Given the description of an element on the screen output the (x, y) to click on. 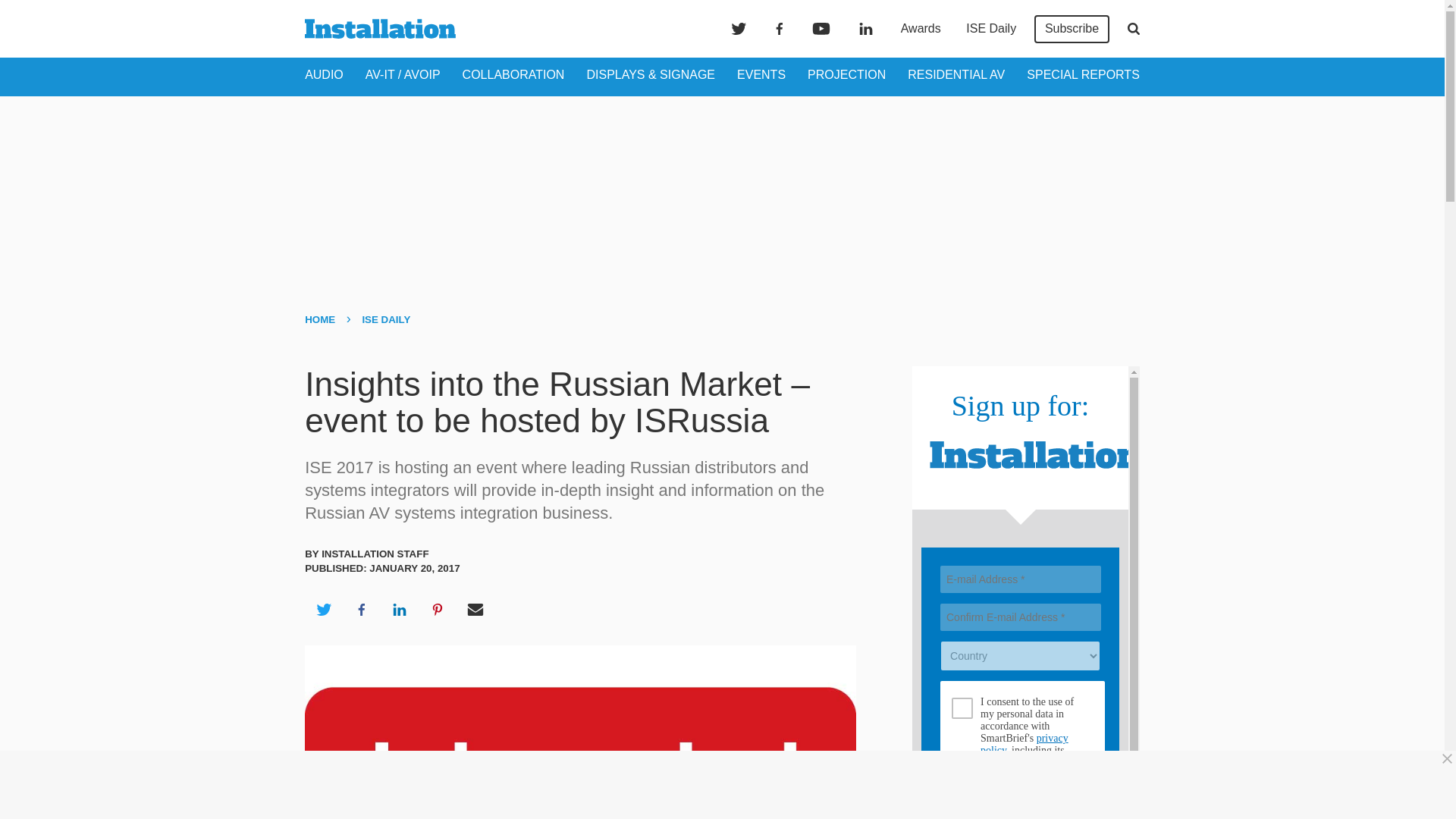
Share on Pinterest (438, 609)
ISE Daily (990, 29)
Share on Facebook (361, 609)
COLLABORATION (513, 74)
AUDIO (323, 74)
Awards (921, 29)
Share via Email (476, 609)
Subscribe (1071, 29)
Share on Twitter (323, 609)
Installation Staff's Author Profile (374, 553)
Share on LinkedIn (399, 609)
